Given the description of an element on the screen output the (x, y) to click on. 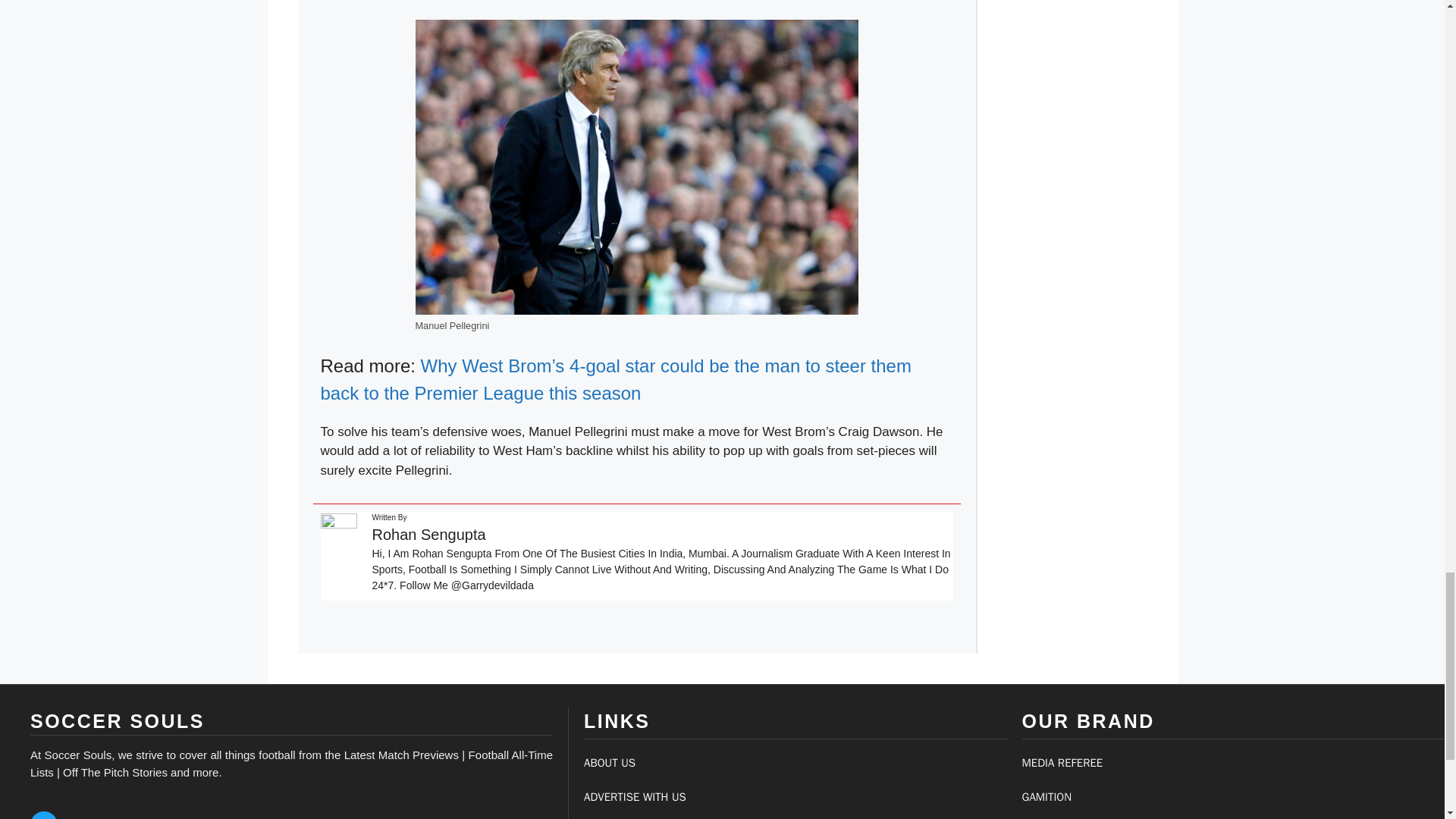
Rohan Sengupta (427, 534)
GAMITION (1046, 796)
ADVERTISE WITH US (634, 796)
MEDIA REFEREE (1062, 762)
ABOUT US (608, 762)
Twitter (44, 815)
